Given the description of an element on the screen output the (x, y) to click on. 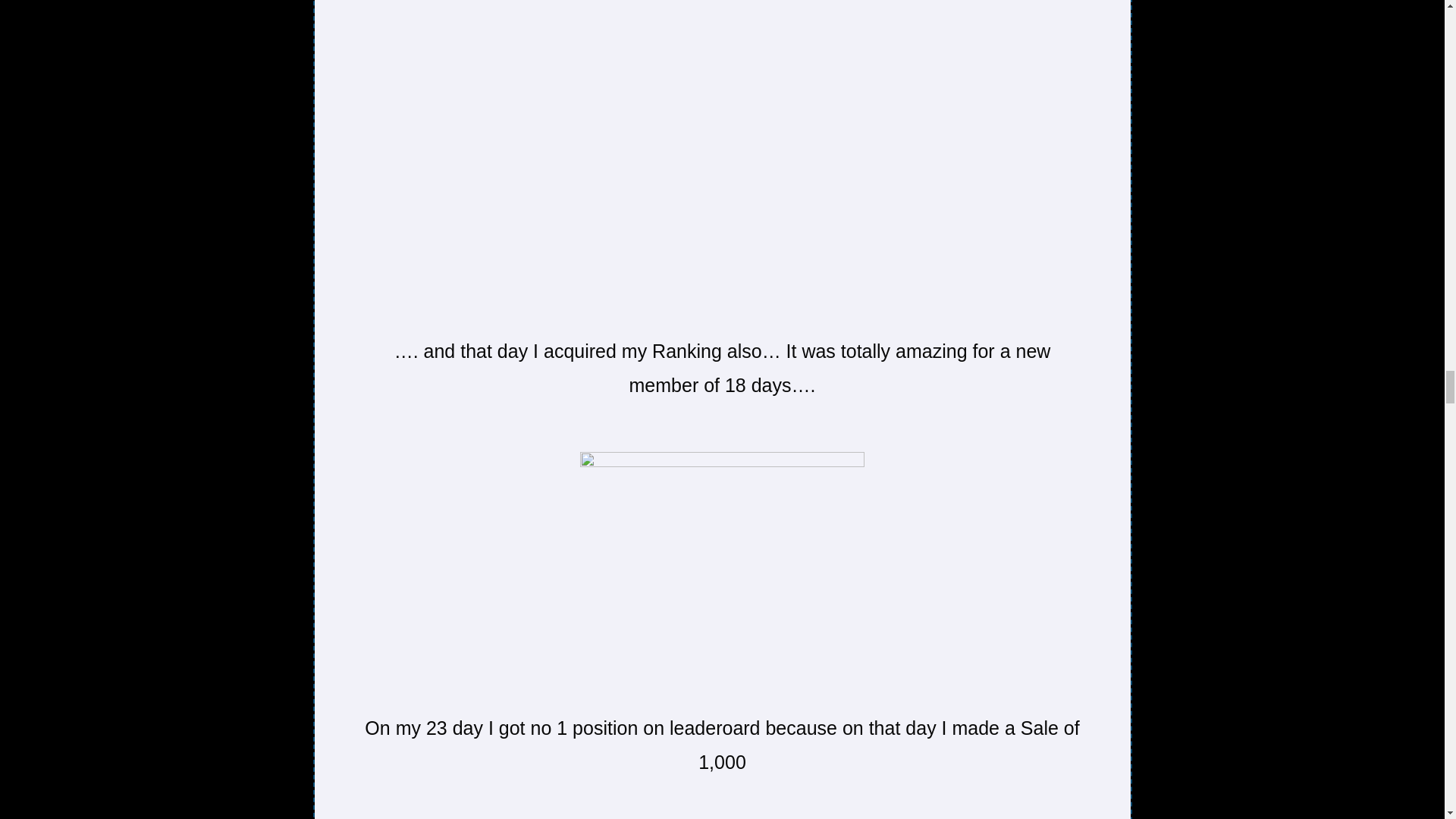
Legendary-Marketer3 (721, 565)
